Given the description of an element on the screen output the (x, y) to click on. 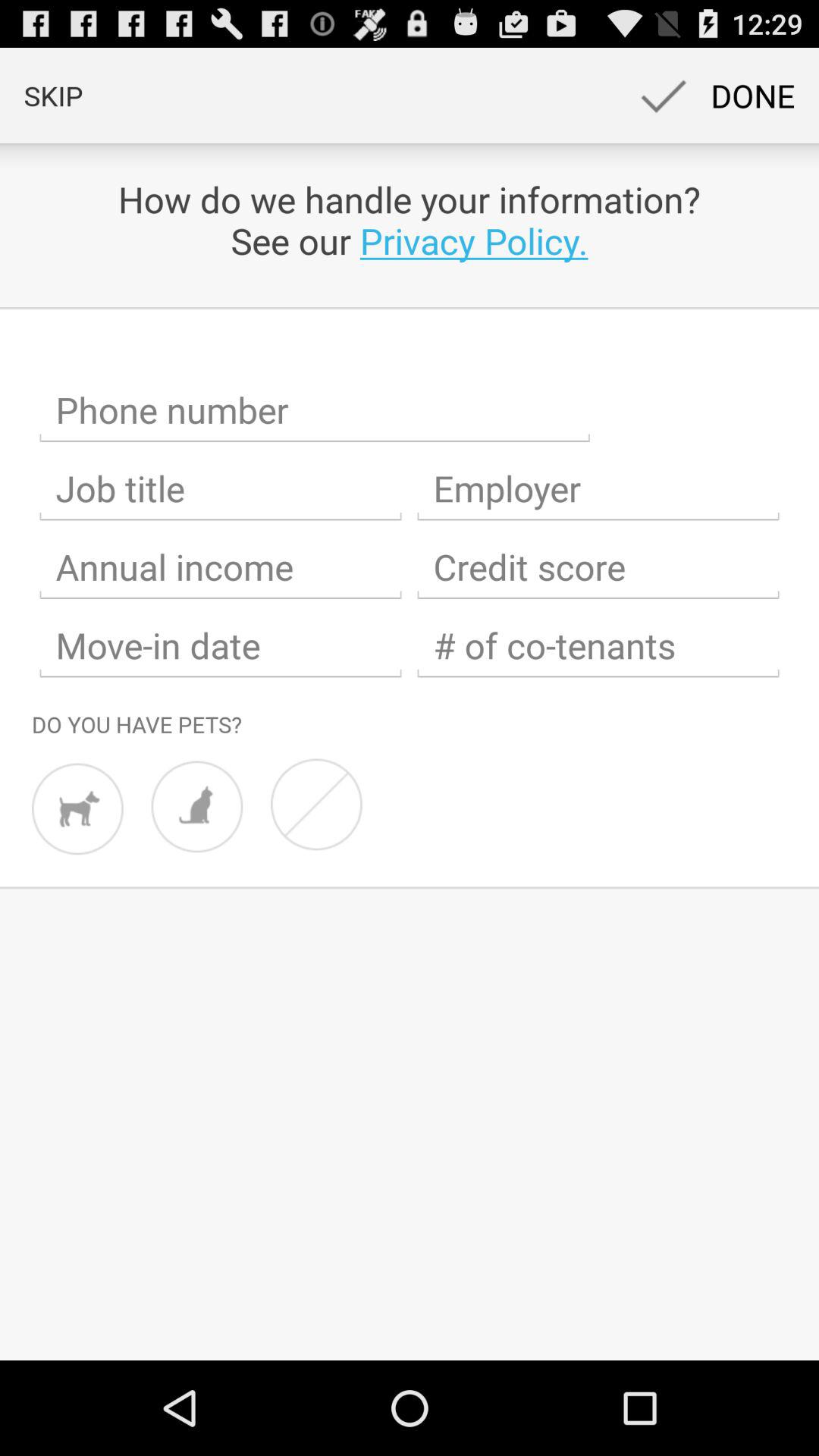
enter number of co-tenants (598, 645)
